Given the description of an element on the screen output the (x, y) to click on. 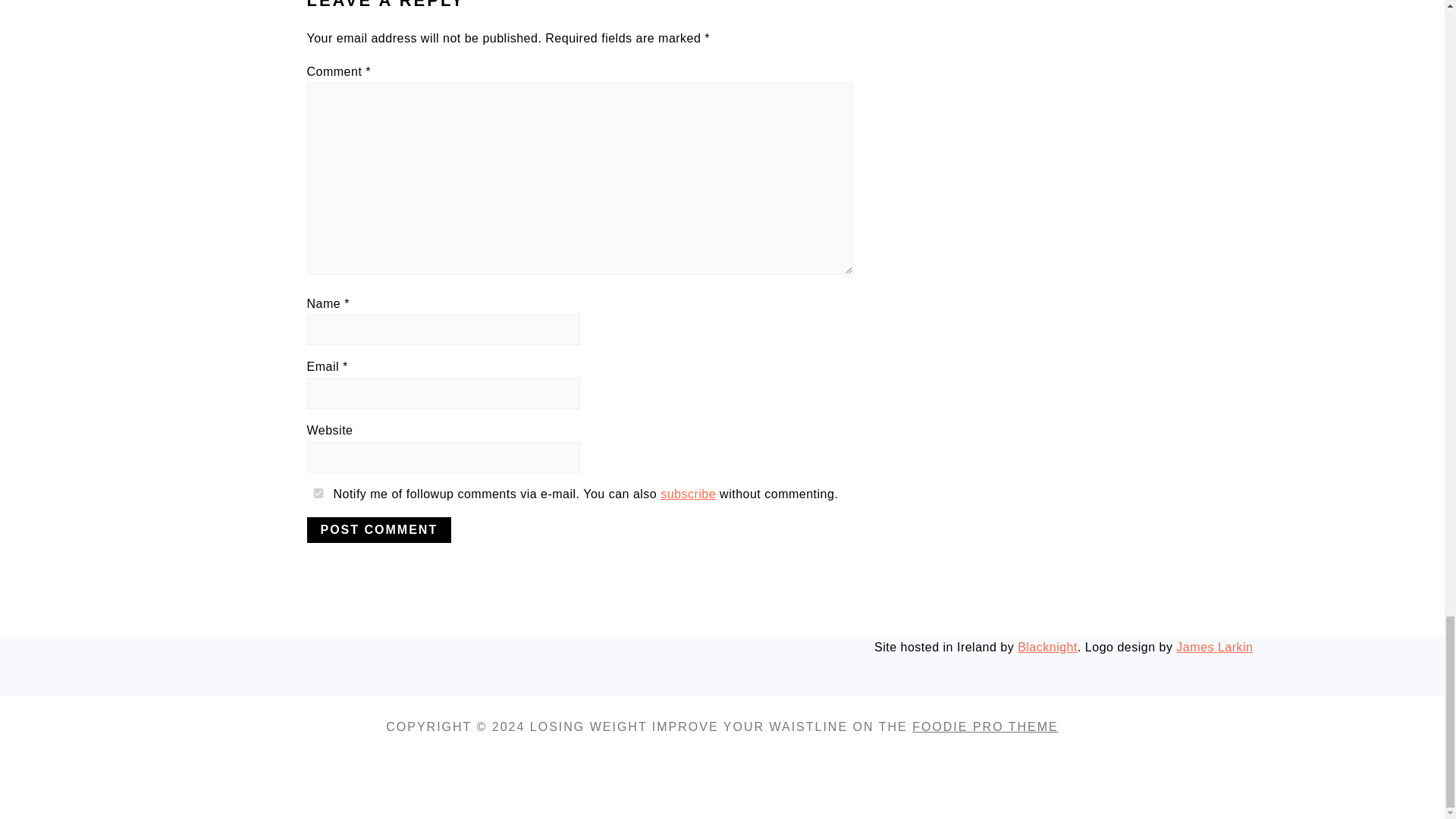
subscribe (688, 493)
Post Comment (378, 529)
Post Comment (378, 529)
yes (317, 492)
